Given the description of an element on the screen output the (x, y) to click on. 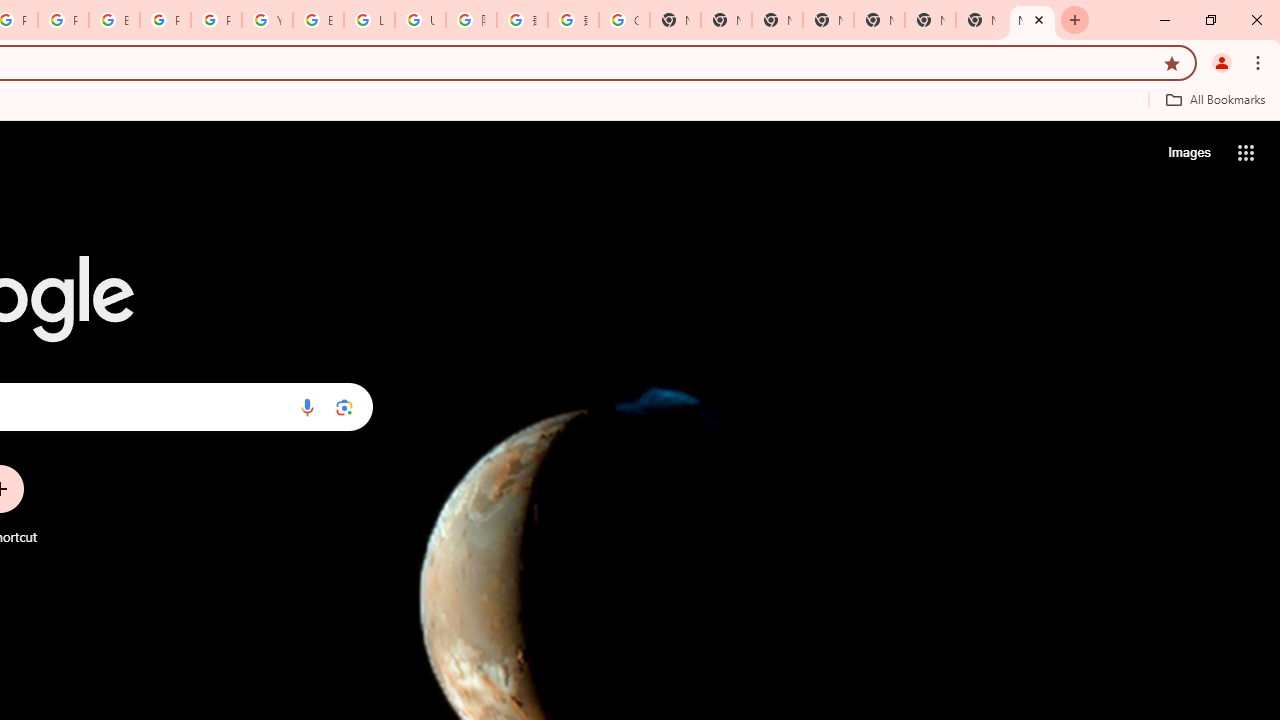
Search by image (344, 407)
Google Images (624, 20)
Privacy Help Center - Policies Help (63, 20)
